Given the description of an element on the screen output the (x, y) to click on. 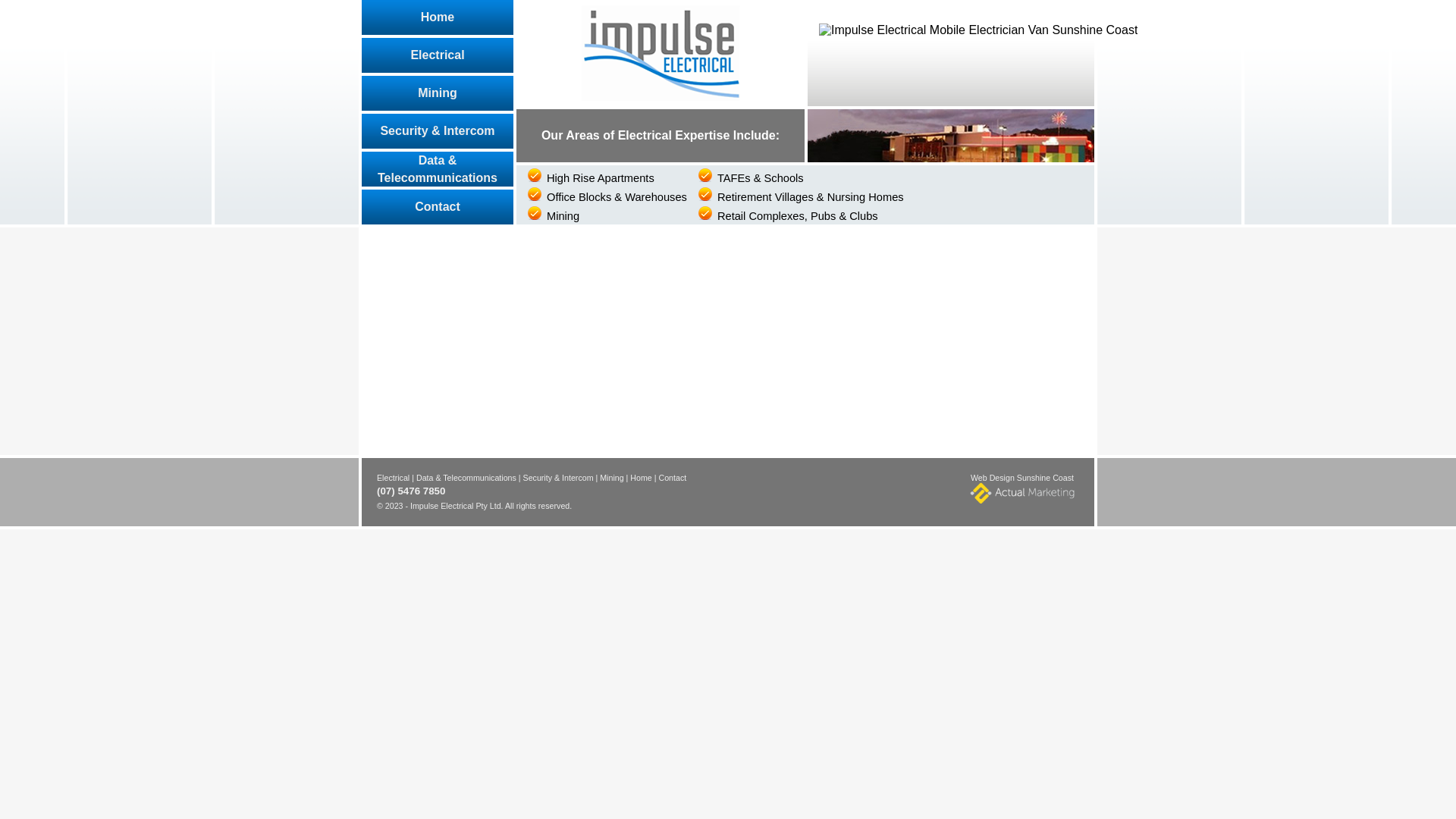
Electrical Element type: text (392, 479)
Mining Element type: text (611, 479)
Home Element type: text (640, 479)
Data & Telecommunications Element type: text (437, 168)
Home Element type: text (437, 17)
Contact Element type: text (672, 479)
Security & Intercom Element type: text (437, 130)
Contact Element type: text (437, 206)
Web Design Sunshine Coast Element type: text (1022, 490)
Mining Element type: text (437, 92)
Data & Telecommunications Element type: text (466, 479)
Electrical Element type: text (437, 54)
Security & Intercom Element type: text (558, 479)
